Given the description of an element on the screen output the (x, y) to click on. 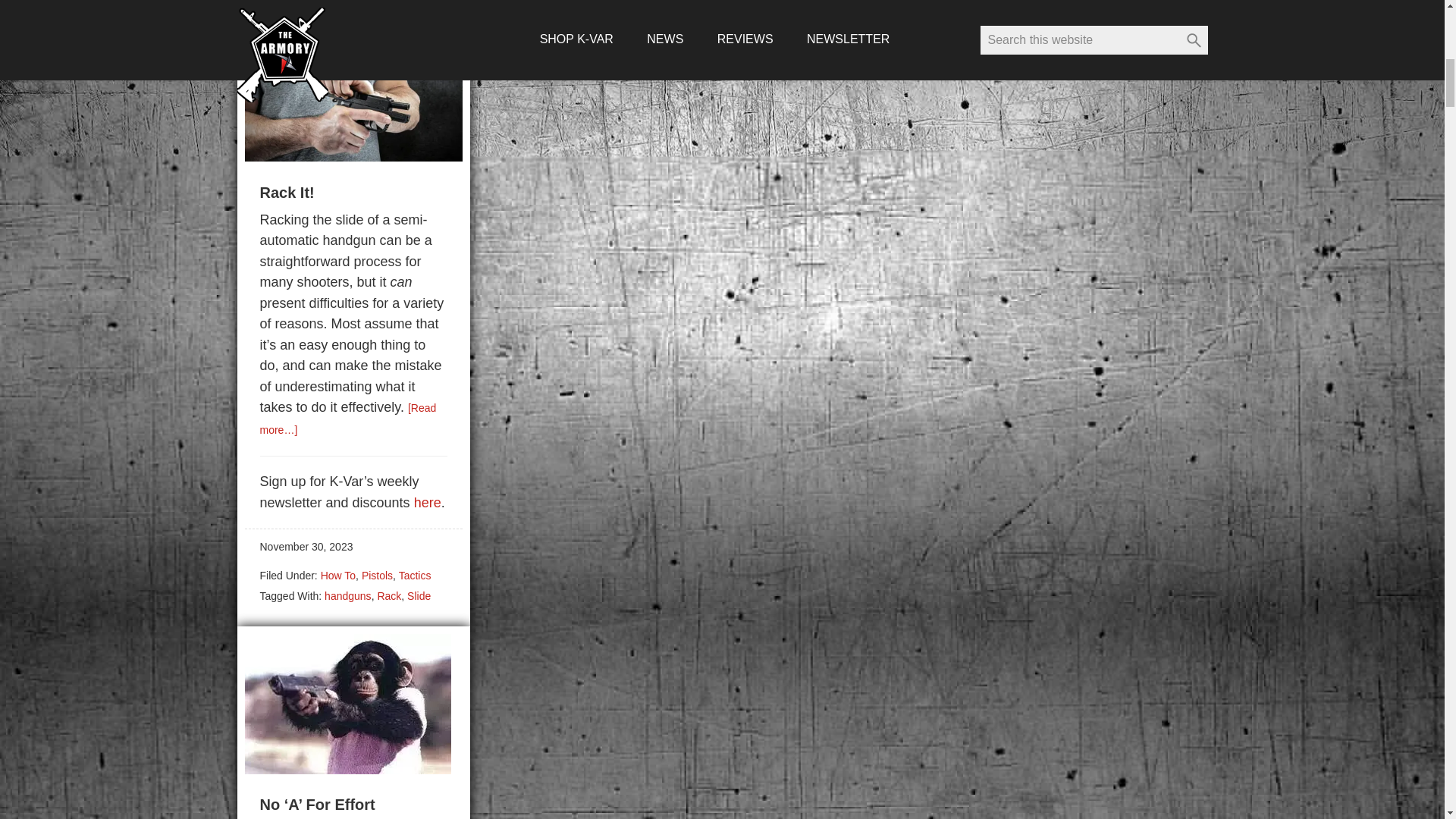
Rack It! (352, 156)
Grip (333, 3)
Pistols (377, 575)
here (427, 502)
Rack (389, 595)
Slide (418, 595)
Tactics (414, 575)
handguns (373, 3)
How To (337, 575)
handguns (347, 595)
